Given the description of an element on the screen output the (x, y) to click on. 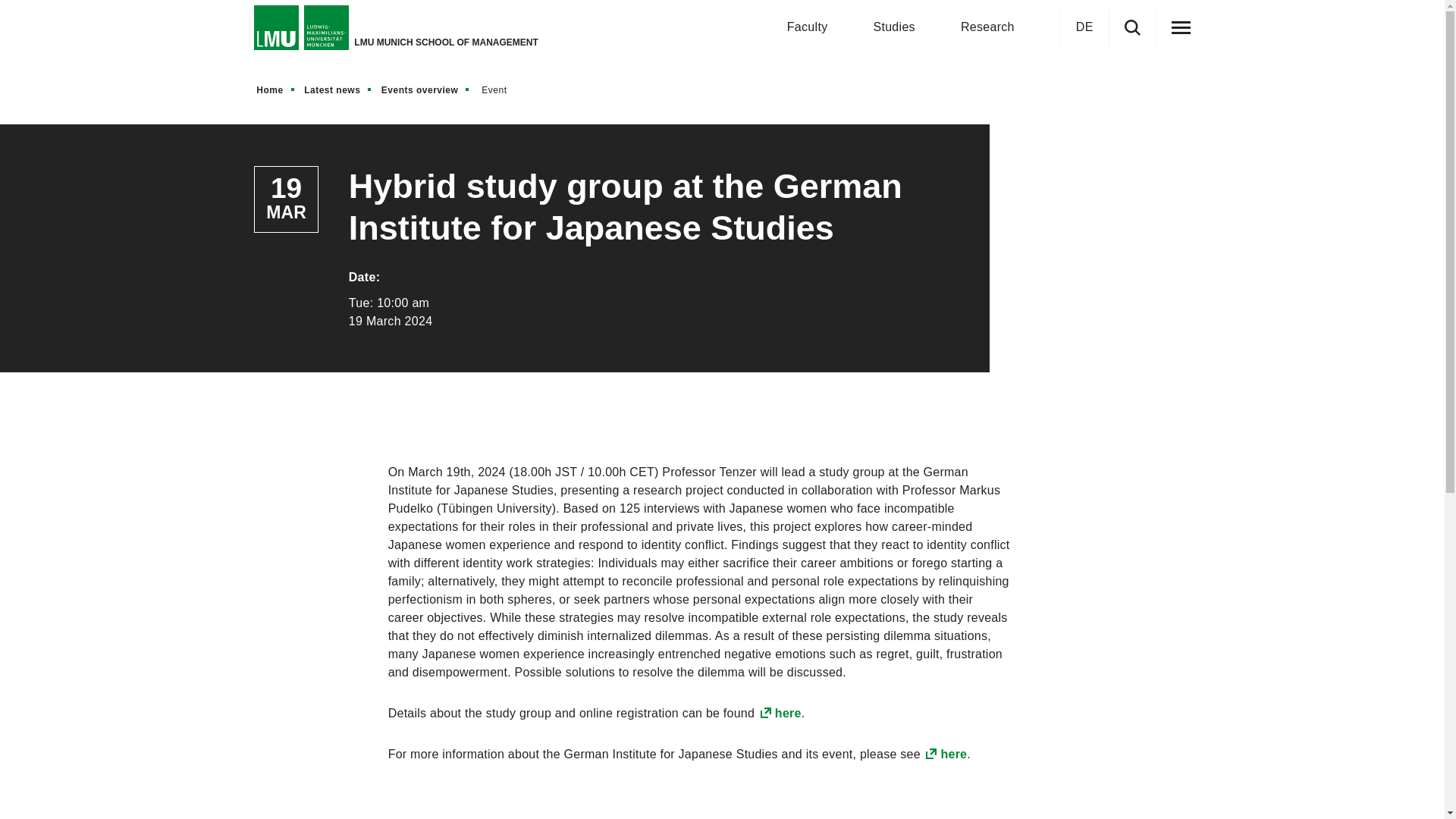
Home Latest news Events overview You are here:Event (721, 89)
Research (987, 26)
You are here:Event (499, 90)
You are here:Event (499, 90)
DE (1084, 26)
Home Latest news Events overview You are here:Event (387, 90)
Faculty (807, 26)
Latest news (338, 90)
Studies (893, 26)
Events overview (426, 90)
